Given the description of an element on the screen output the (x, y) to click on. 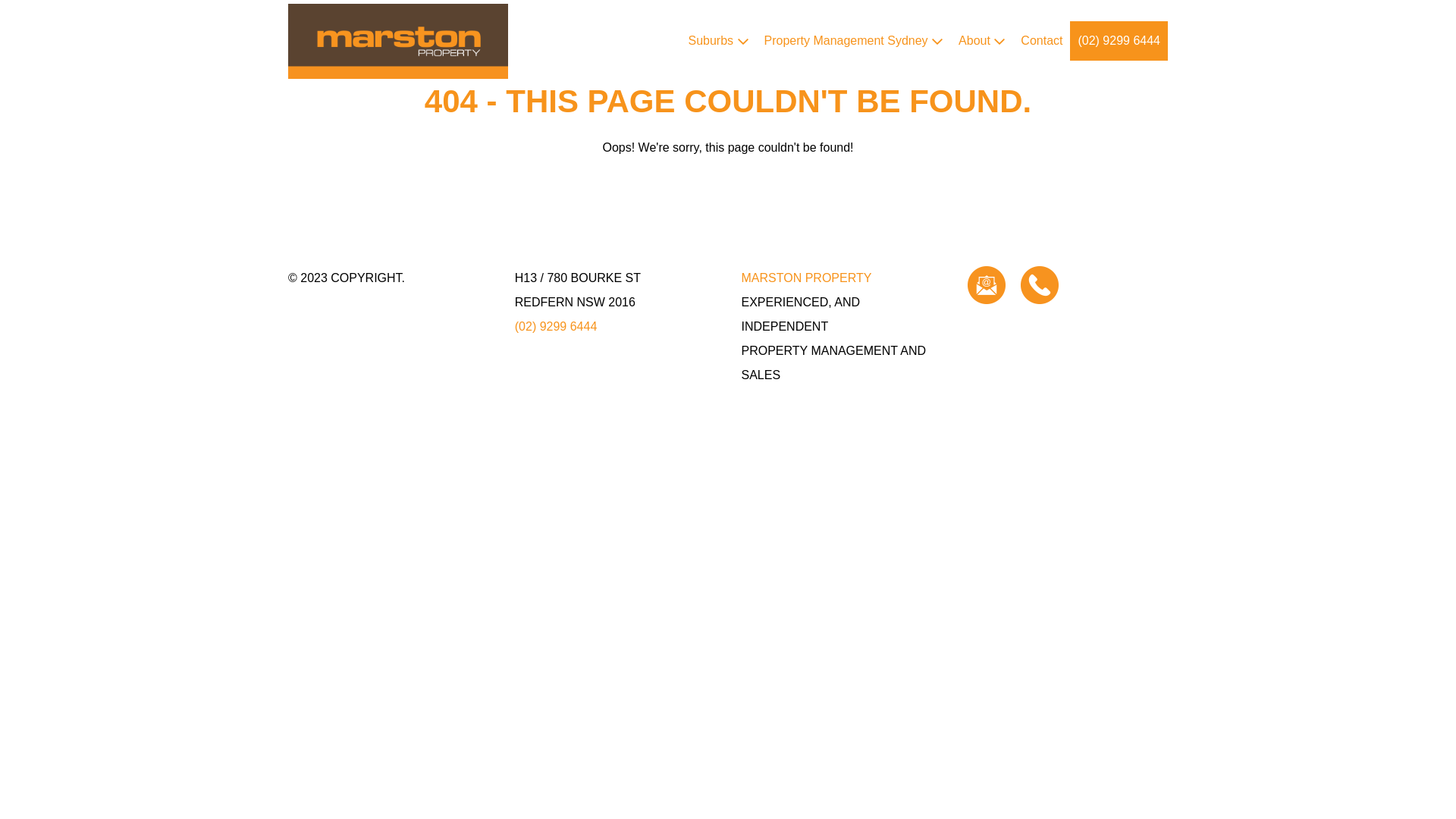
(02) 9299 6444 Element type: text (1118, 40)
Marston Property Element type: hover (398, 40)
Contact Element type: text (1041, 40)
About Element type: text (981, 40)
MARSTON PROPERTY Element type: text (806, 277)
Suburbs Element type: text (718, 40)
(02) 9299 6444 Element type: text (555, 326)
Property Management Sydney Element type: text (853, 40)
